Given the description of an element on the screen output the (x, y) to click on. 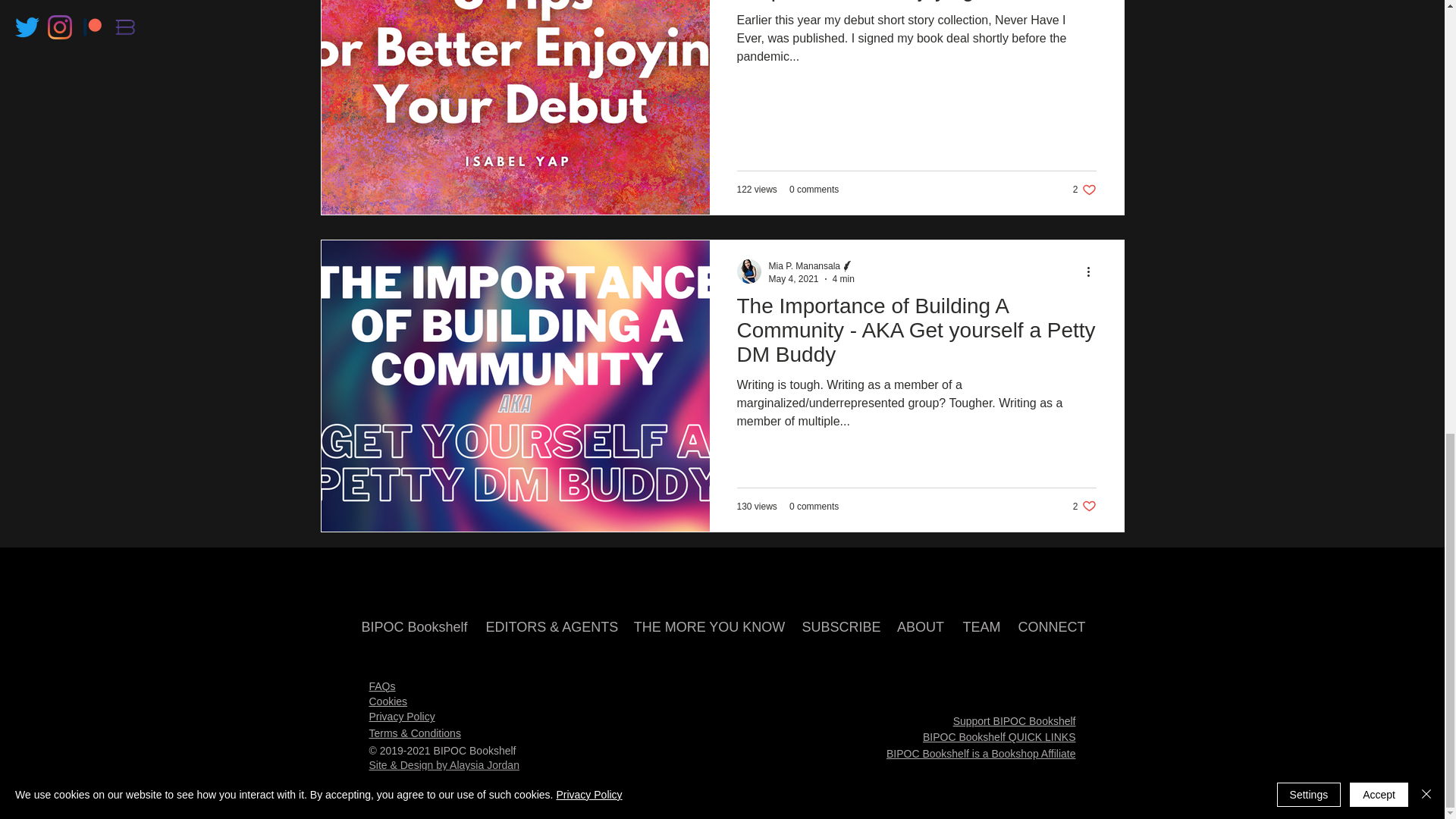
4 min (843, 278)
Mia P. Manansala (804, 266)
May 4, 2021 (793, 278)
